Given the description of an element on the screen output the (x, y) to click on. 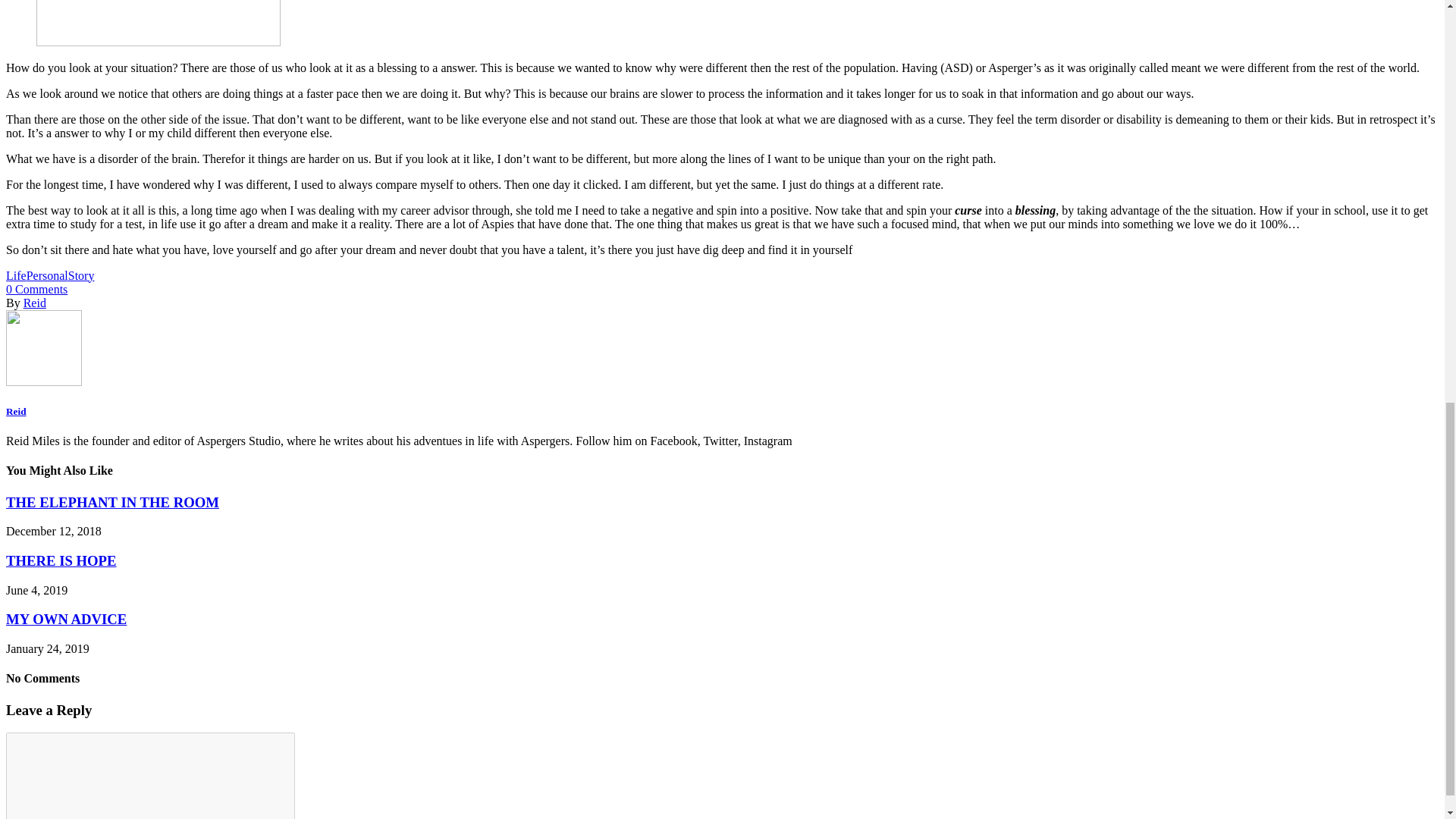
Posts by Reid (15, 410)
Posts by Reid (34, 302)
